Given the description of an element on the screen output the (x, y) to click on. 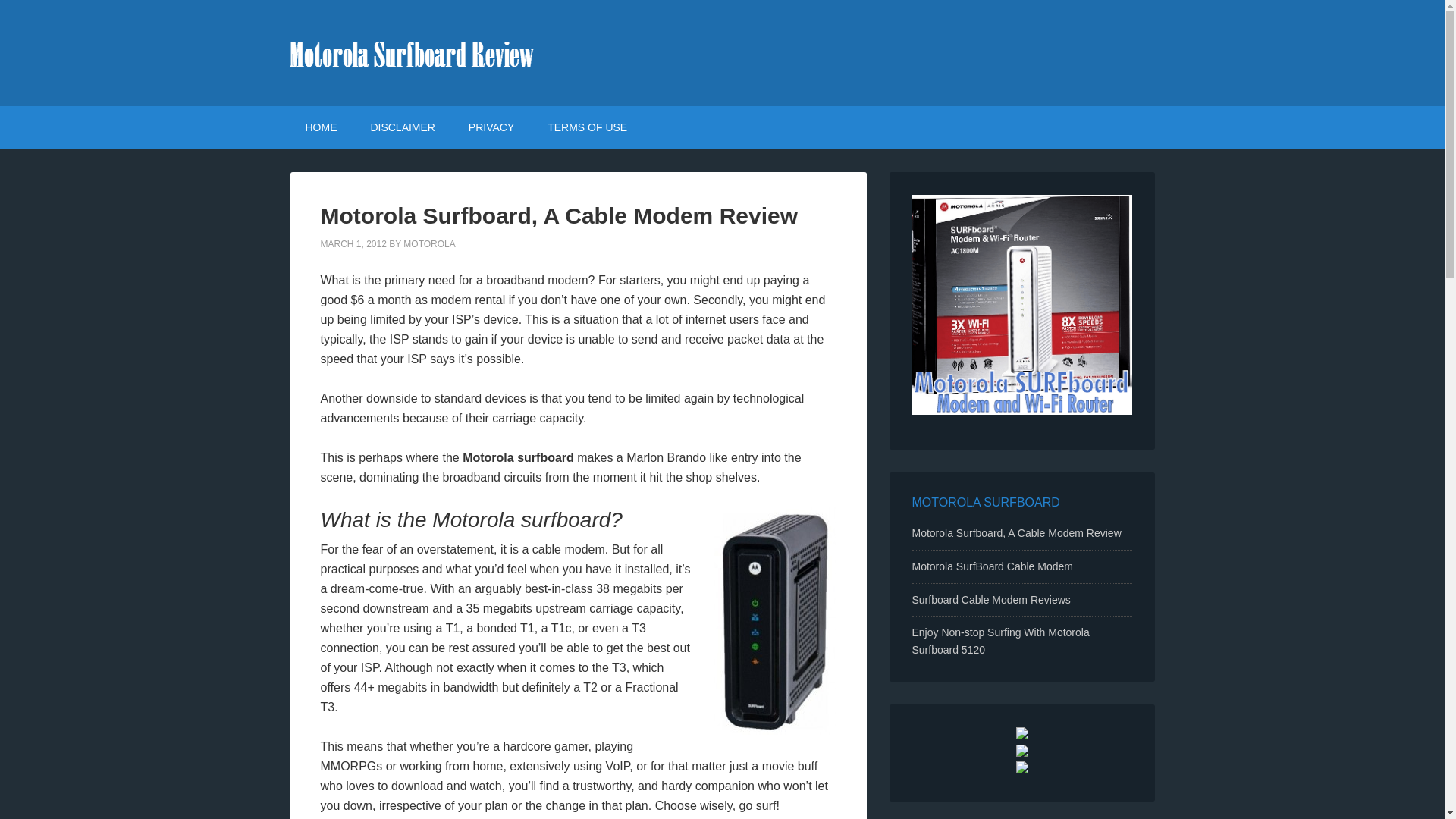
Surfboard Cable Modem Reviews (990, 599)
PRIVACY (490, 127)
Motorola Surfboard, A Cable Modem Review (558, 215)
TERMS OF USE (587, 127)
Motorola SurfBoard Cable Modem (991, 566)
DISCLAIMER (402, 127)
MOTOROLA (428, 244)
HOME (320, 127)
MOTOROLASURFBOARD5121.COM (721, 52)
Enjoy Non-stop Surfing With Motorola Surfboard 5120 (1000, 641)
